Given the description of an element on the screen output the (x, y) to click on. 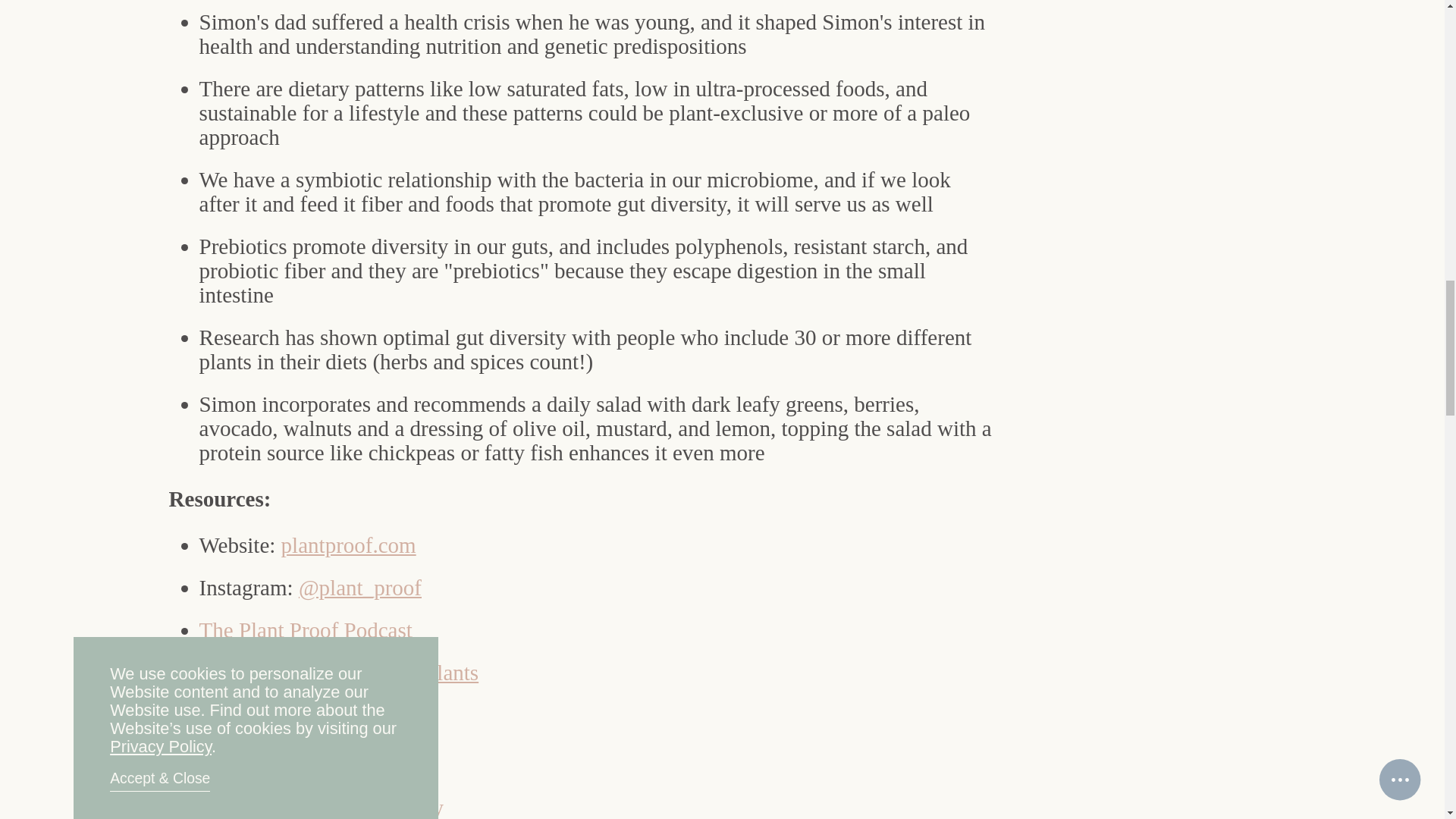
kellyleveque.com (277, 764)
plantproof.com (348, 545)
The Plant Proof Podcast  (309, 630)
The Proof is in the Plants (367, 672)
